Given the description of an element on the screen output the (x, y) to click on. 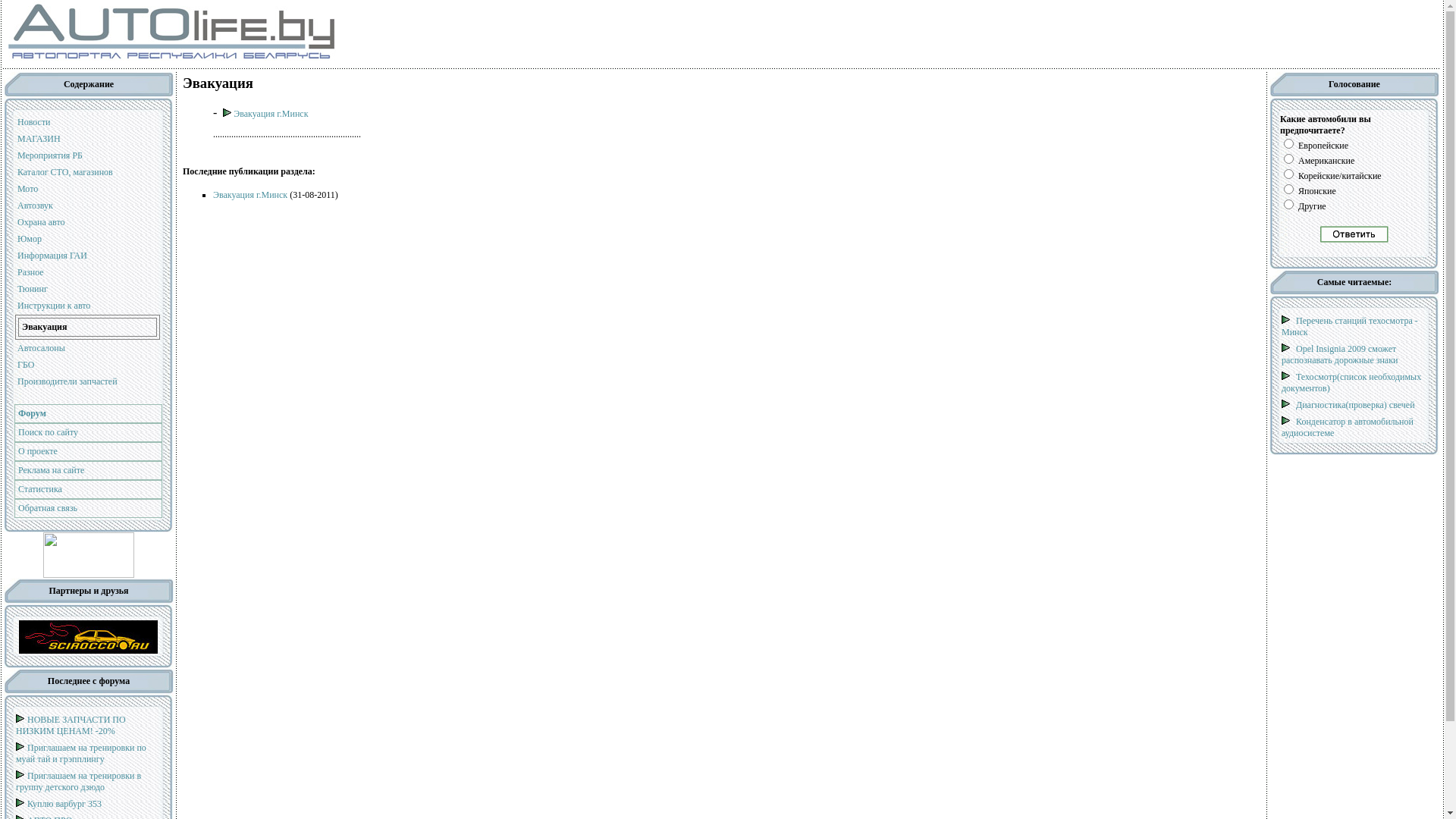
Advertisement Element type: hover (589, 33)
